Given the description of an element on the screen output the (x, y) to click on. 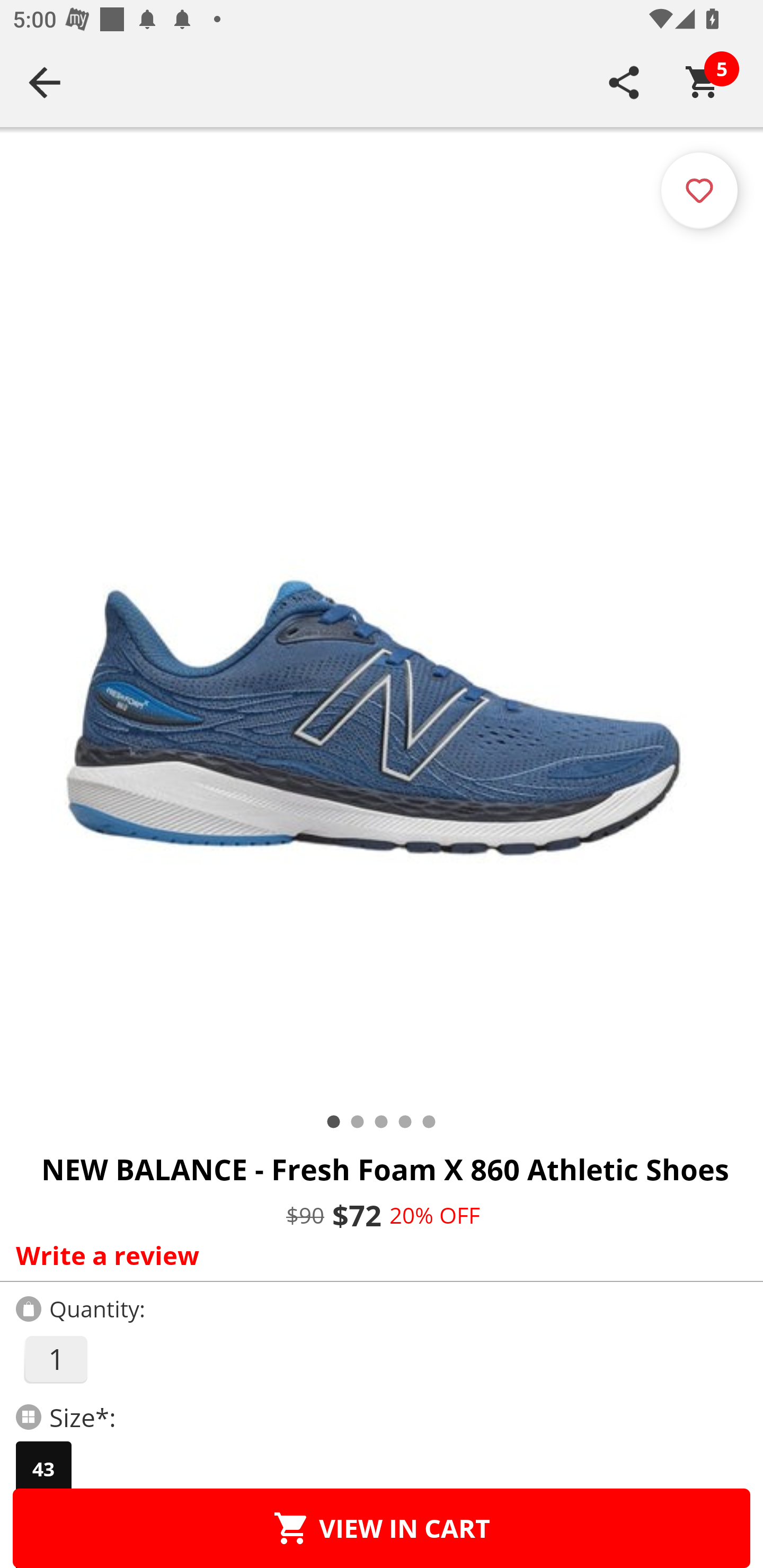
Navigate up (44, 82)
SHARE (623, 82)
Cart (703, 81)
Write a review (377, 1255)
1 (55, 1358)
43 (43, 1468)
VIEW IN CART (381, 1528)
